Given the description of an element on the screen output the (x, y) to click on. 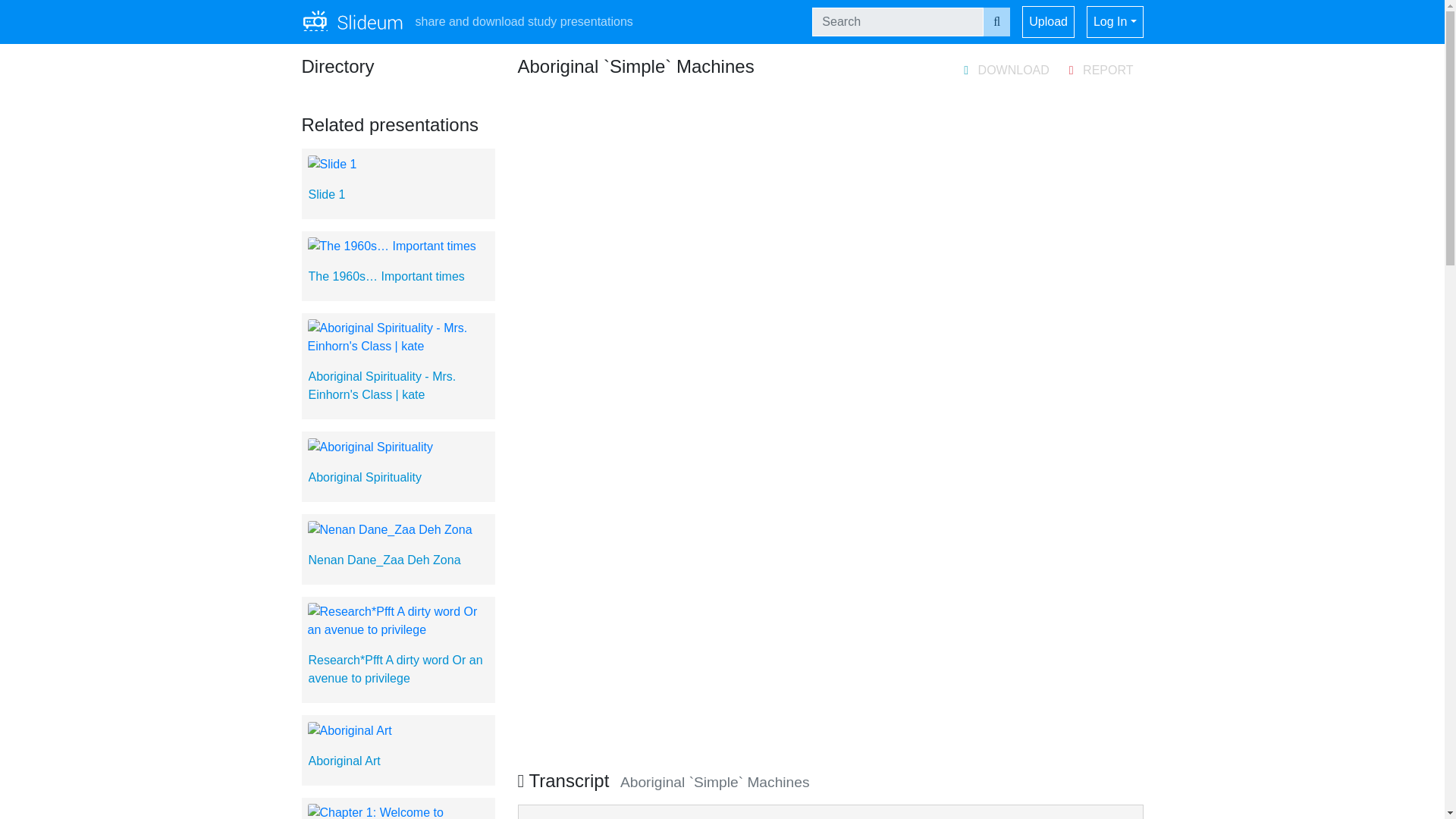
Slide 1 (326, 194)
Aboriginal Spirituality (363, 477)
Log In (1114, 21)
Upload (1048, 21)
Aboriginal Art (343, 760)
forbidden by owner (1006, 73)
